Given the description of an element on the screen output the (x, y) to click on. 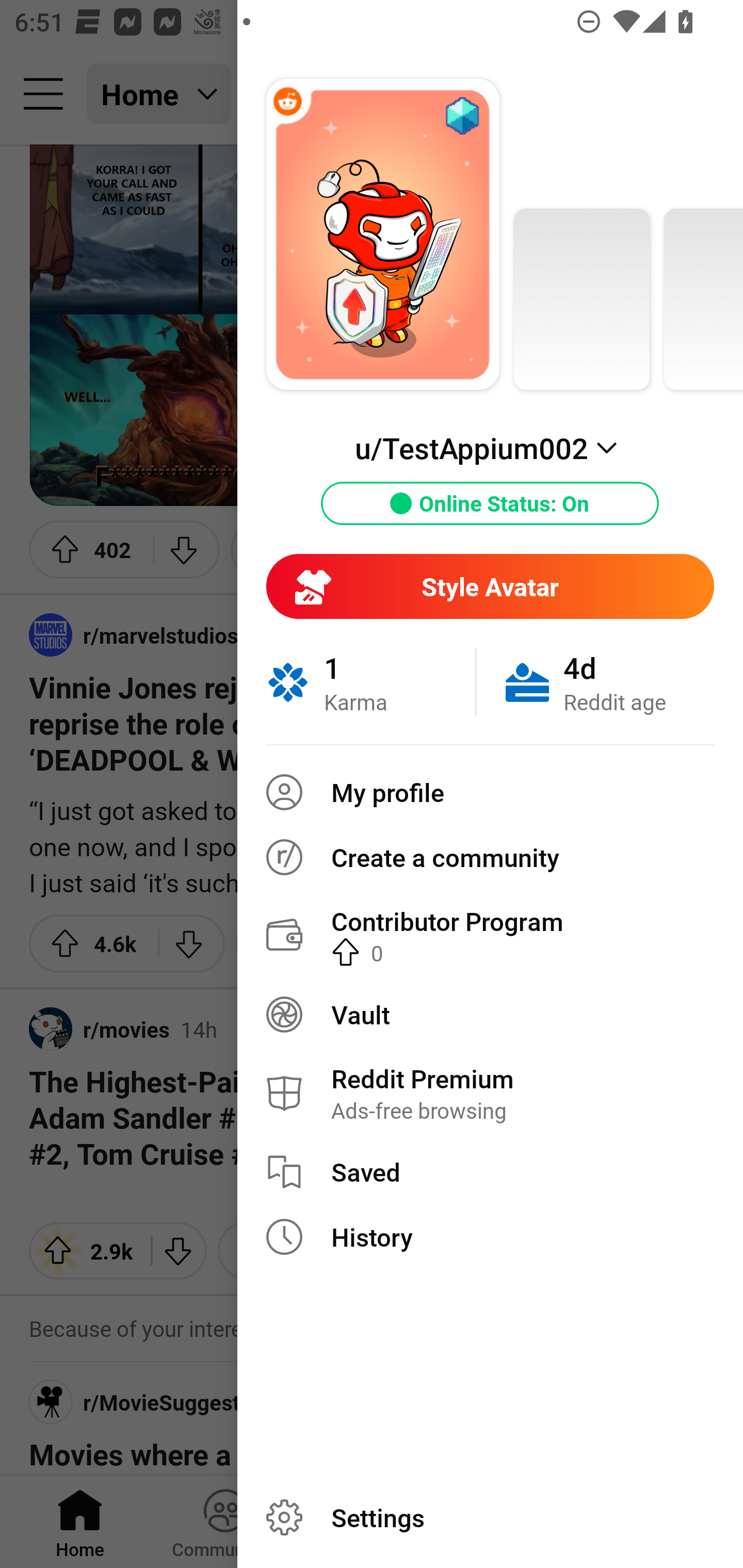
u/TestAppium002 (489, 447)
Online Status: On (489, 503)
Style Avatar (489, 586)
1 Karma 1 Karma (369, 681)
My profile (490, 792)
Create a community (490, 856)
Contributor Program Contributor Program 0 (490, 935)
Vault (490, 1014)
Saved (490, 1171)
History (490, 1237)
Settings (490, 1517)
